Given the description of an element on the screen output the (x, y) to click on. 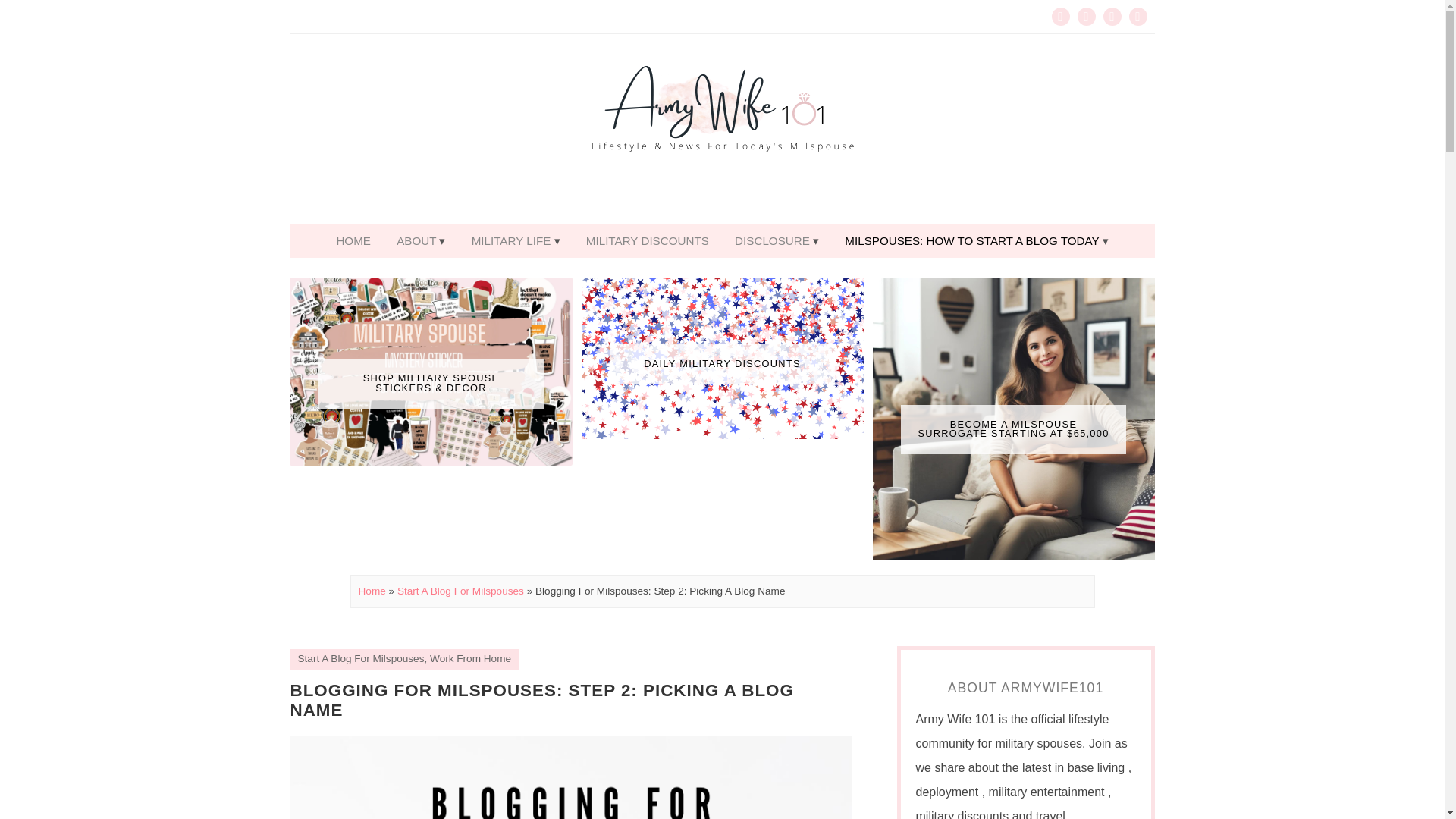
HOME (352, 240)
Blogging For Milspouses: Step 2: Picking A Blog Name (541, 700)
MILSPOUSES: HOW TO START A BLOG TODAY (975, 240)
DISCLOSURE (776, 240)
MILITARY LIFE (516, 240)
MILITARY DISCOUNTS (647, 240)
ABOUT (421, 240)
